Given the description of an element on the screen output the (x, y) to click on. 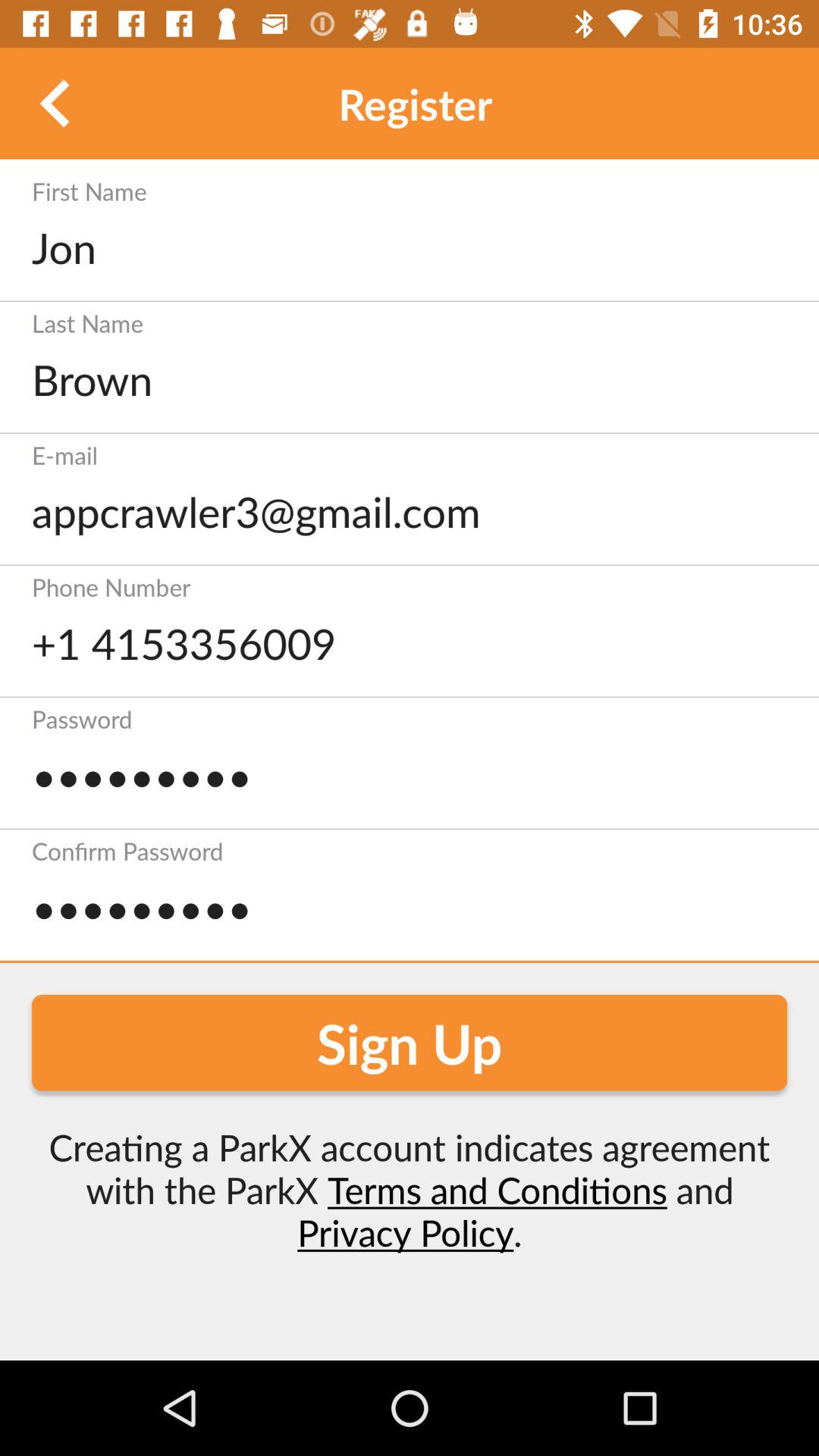
back ward (55, 103)
